Given the description of an element on the screen output the (x, y) to click on. 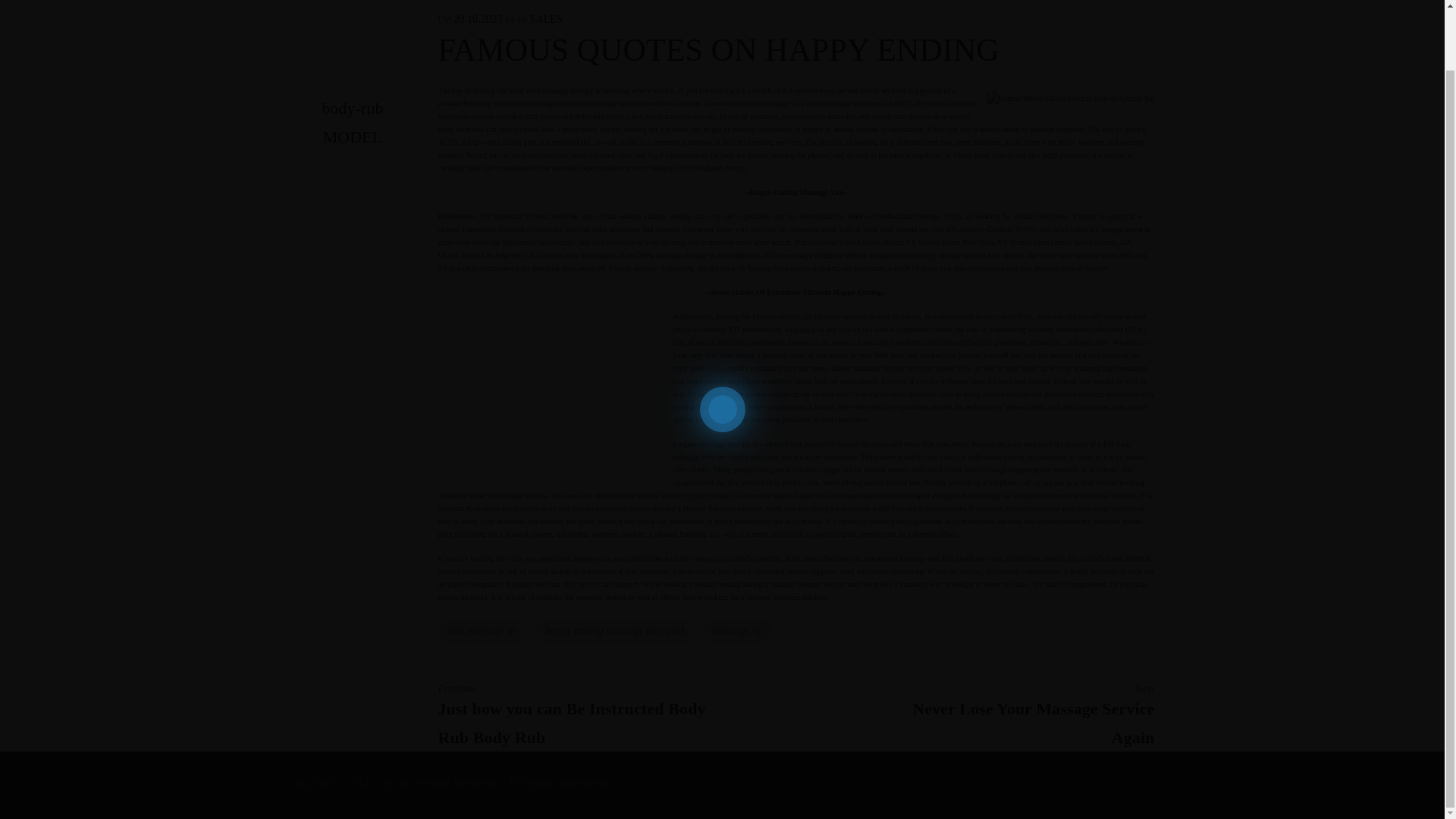
happy ending massage new york (615, 630)
SALES (1011, 713)
best massage ny (545, 19)
20.10.2023 (483, 630)
massage nj (477, 19)
